Given the description of an element on the screen output the (x, y) to click on. 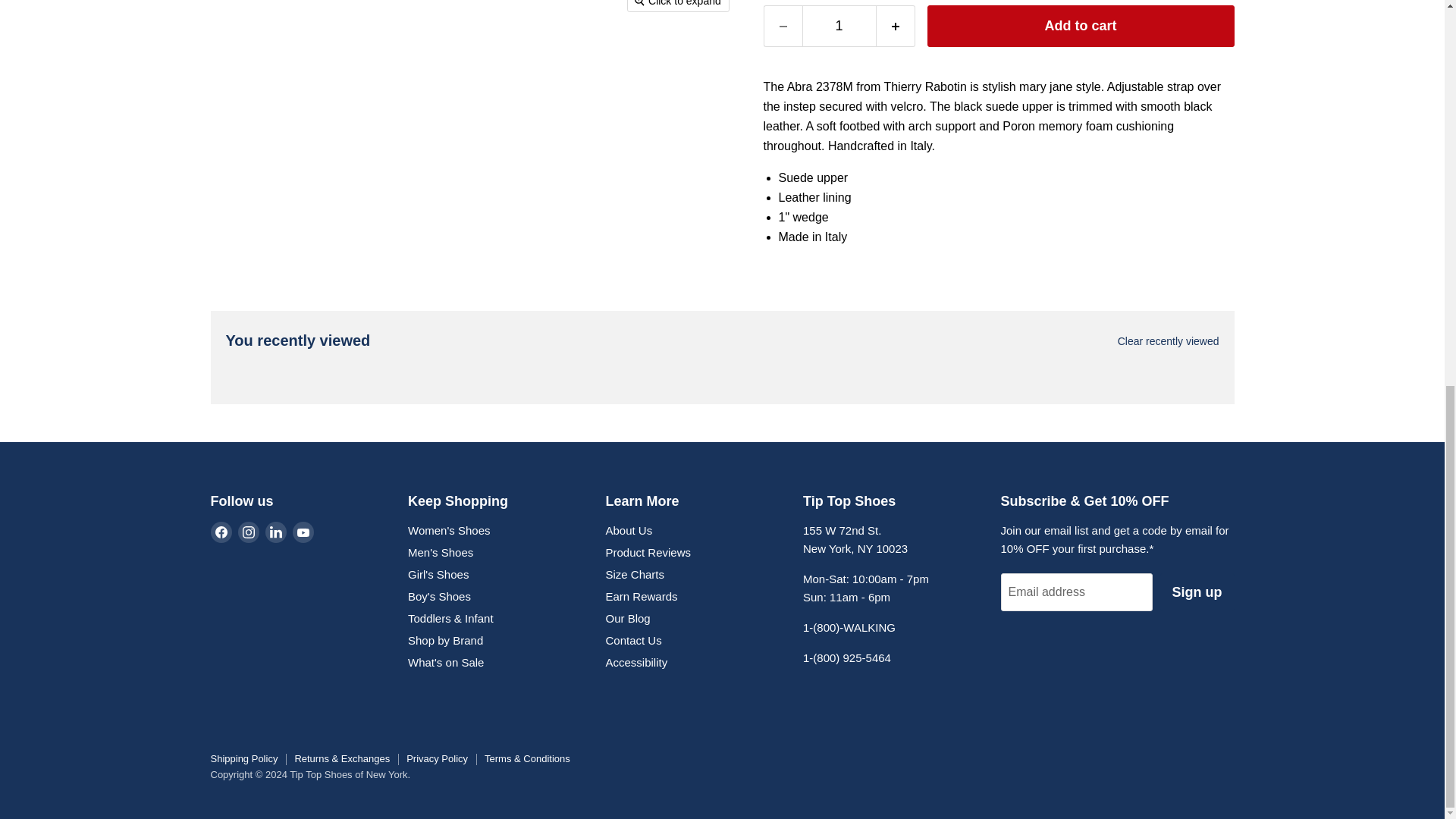
Facebook (221, 531)
LinkedIn (275, 531)
YouTube (303, 531)
1 (839, 25)
Instagram (248, 531)
